Given the description of an element on the screen output the (x, y) to click on. 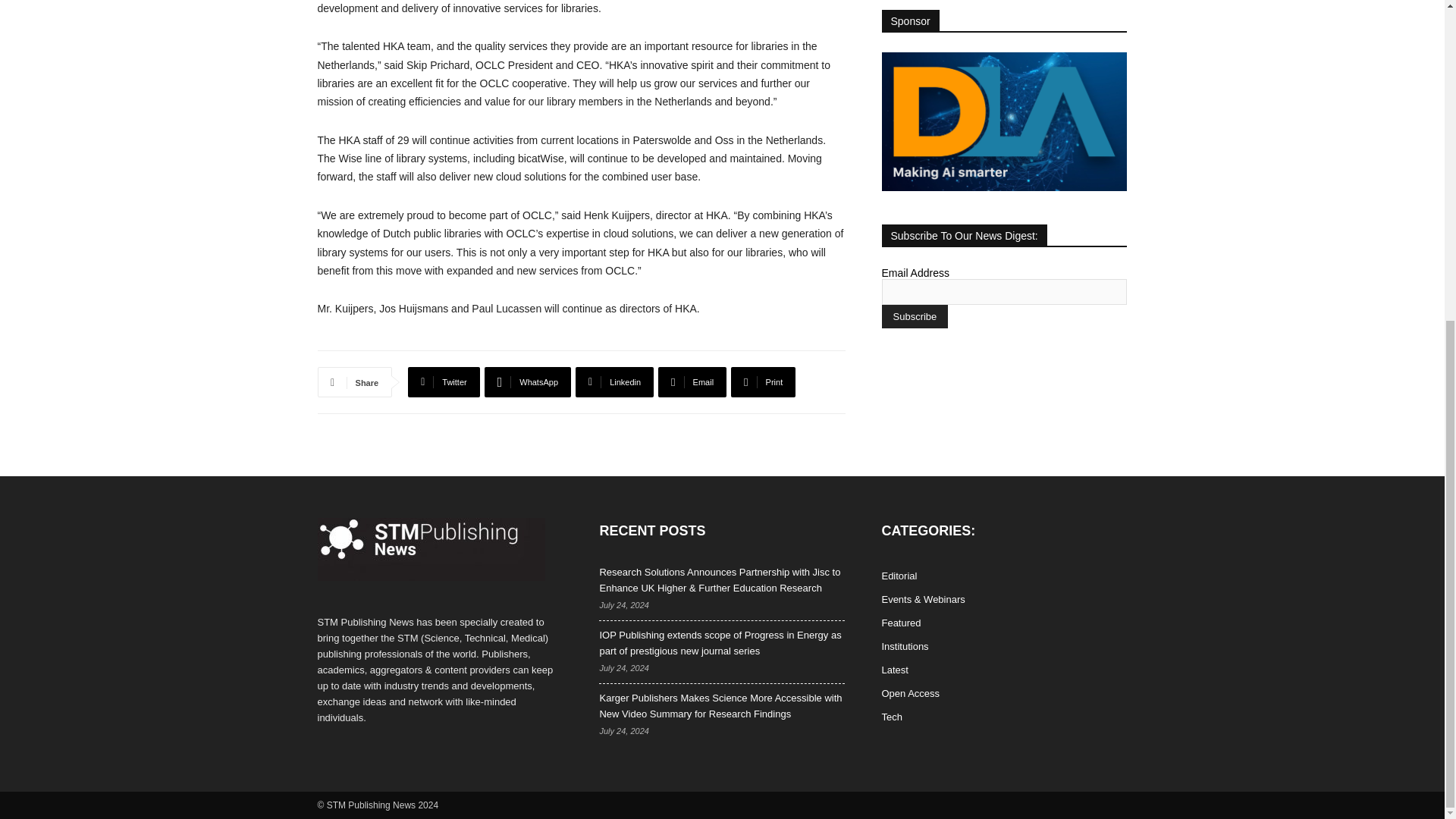
Subscribe (913, 316)
